Given the description of an element on the screen output the (x, y) to click on. 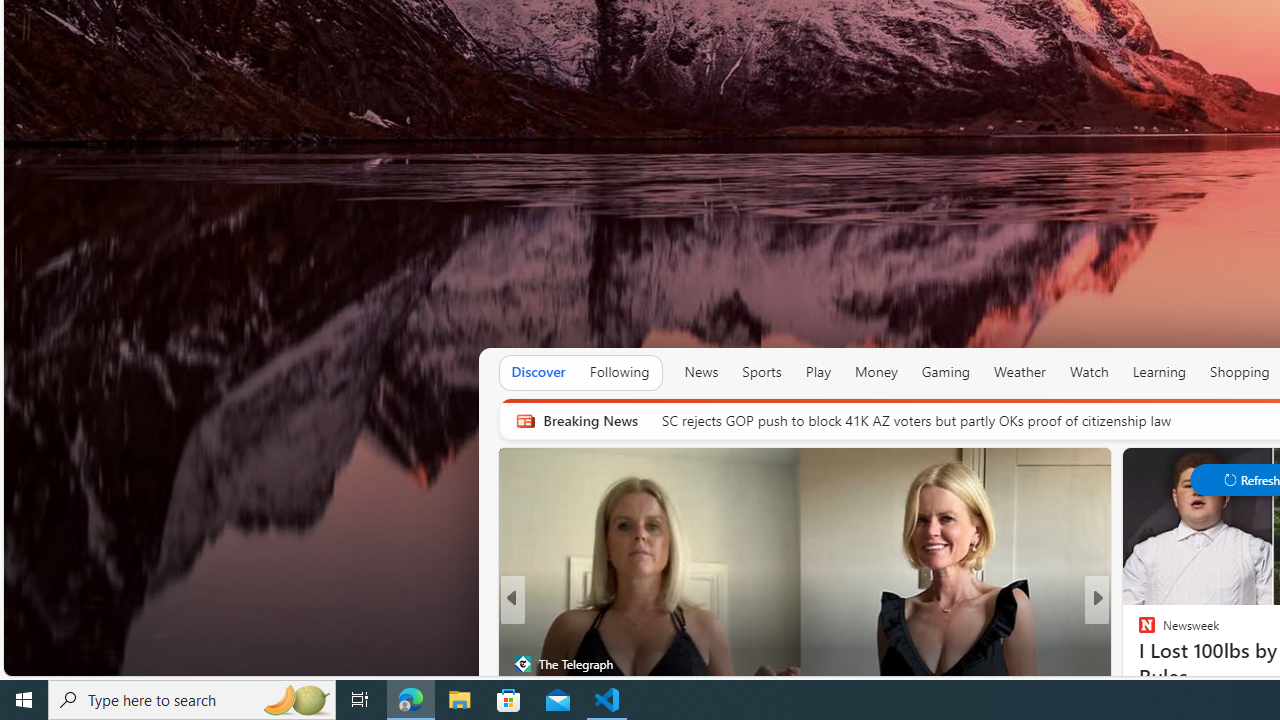
Gaming (945, 372)
Play (817, 371)
Shopping (1240, 371)
Gaming (945, 371)
Sports (761, 371)
The Telegraph (522, 663)
Money (875, 371)
